Given the description of an element on the screen output the (x, y) to click on. 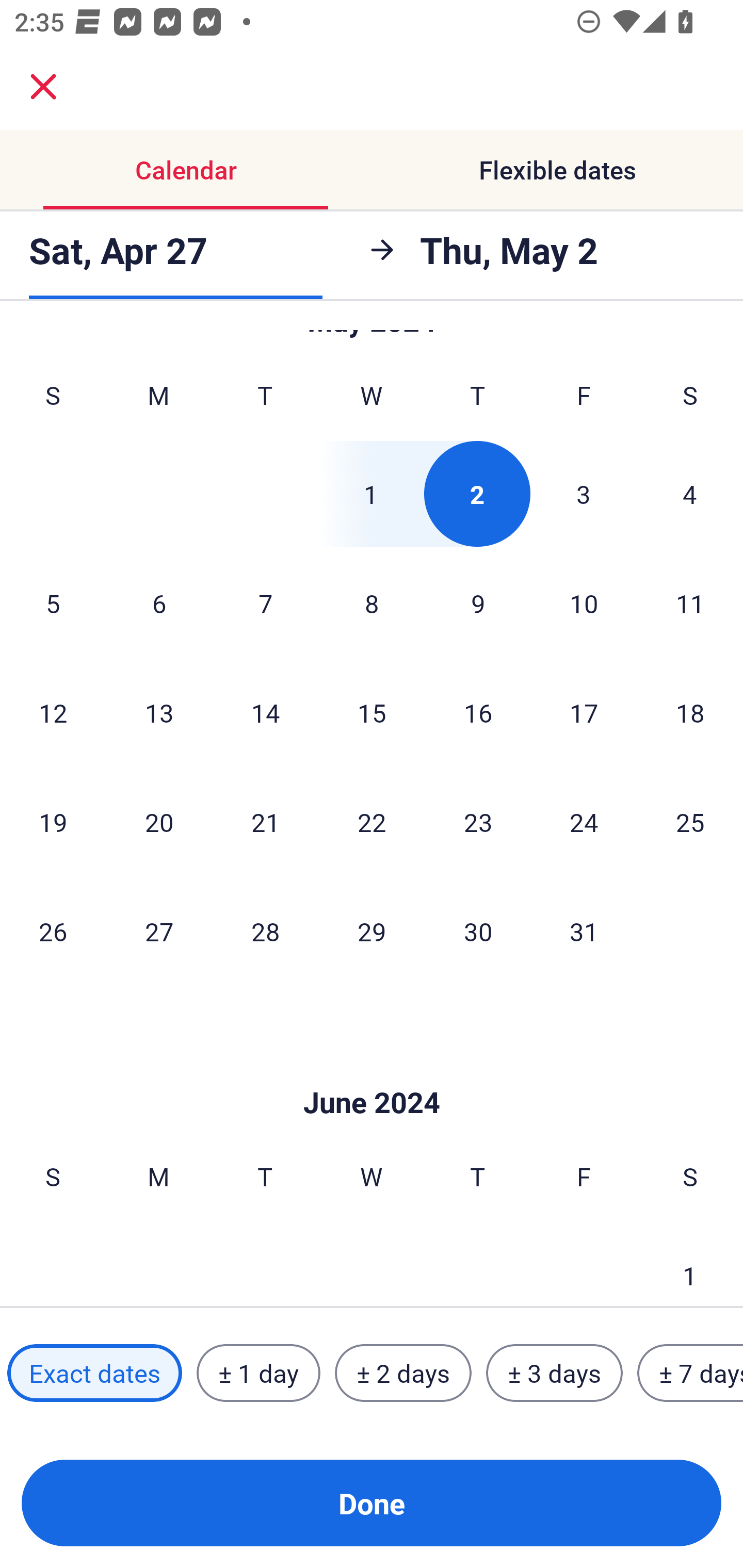
close. (43, 86)
Flexible dates (557, 170)
3 Friday, May 3, 2024 (583, 493)
4 Saturday, May 4, 2024 (689, 493)
5 Sunday, May 5, 2024 (53, 602)
6 Monday, May 6, 2024 (159, 602)
7 Tuesday, May 7, 2024 (265, 602)
8 Wednesday, May 8, 2024 (371, 602)
9 Thursday, May 9, 2024 (477, 602)
10 Friday, May 10, 2024 (584, 602)
11 Saturday, May 11, 2024 (690, 602)
12 Sunday, May 12, 2024 (53, 712)
13 Monday, May 13, 2024 (159, 712)
14 Tuesday, May 14, 2024 (265, 712)
15 Wednesday, May 15, 2024 (371, 712)
16 Thursday, May 16, 2024 (477, 712)
17 Friday, May 17, 2024 (584, 712)
18 Saturday, May 18, 2024 (690, 712)
19 Sunday, May 19, 2024 (53, 821)
20 Monday, May 20, 2024 (159, 821)
21 Tuesday, May 21, 2024 (265, 821)
22 Wednesday, May 22, 2024 (371, 821)
23 Thursday, May 23, 2024 (477, 821)
24 Friday, May 24, 2024 (584, 821)
25 Saturday, May 25, 2024 (690, 821)
26 Sunday, May 26, 2024 (53, 931)
27 Monday, May 27, 2024 (159, 931)
28 Tuesday, May 28, 2024 (265, 931)
29 Wednesday, May 29, 2024 (371, 931)
30 Thursday, May 30, 2024 (477, 931)
31 Friday, May 31, 2024 (584, 931)
Skip to Done (371, 1071)
1 Saturday, June 1, 2024 (689, 1264)
Exact dates (94, 1372)
± 1 day (258, 1372)
± 2 days (403, 1372)
± 3 days (553, 1372)
± 7 days (690, 1372)
Done (371, 1502)
